Given the description of an element on the screen output the (x, y) to click on. 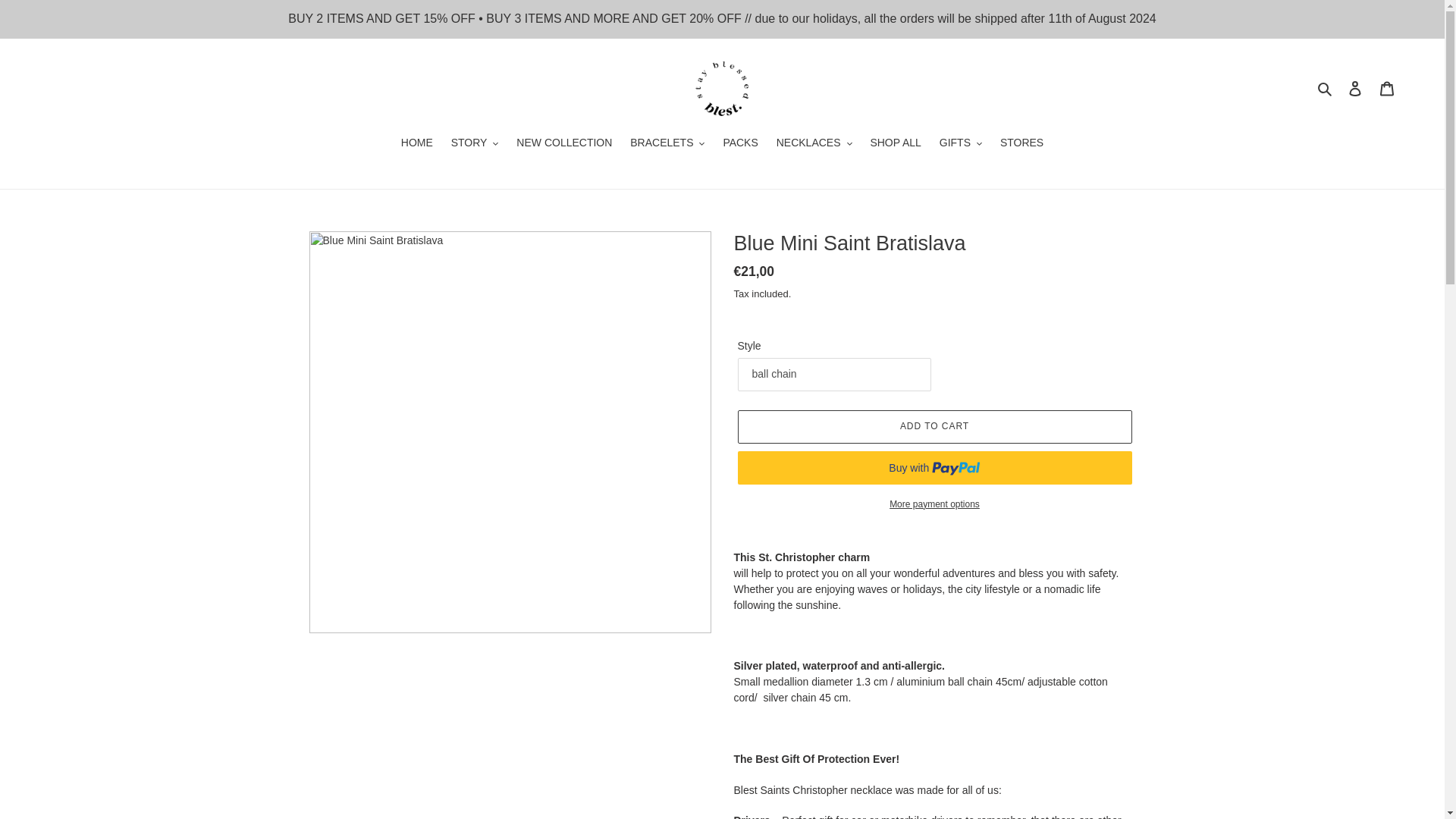
Cart (1387, 88)
Search (1326, 88)
Log in (1355, 88)
